Given the description of an element on the screen output the (x, y) to click on. 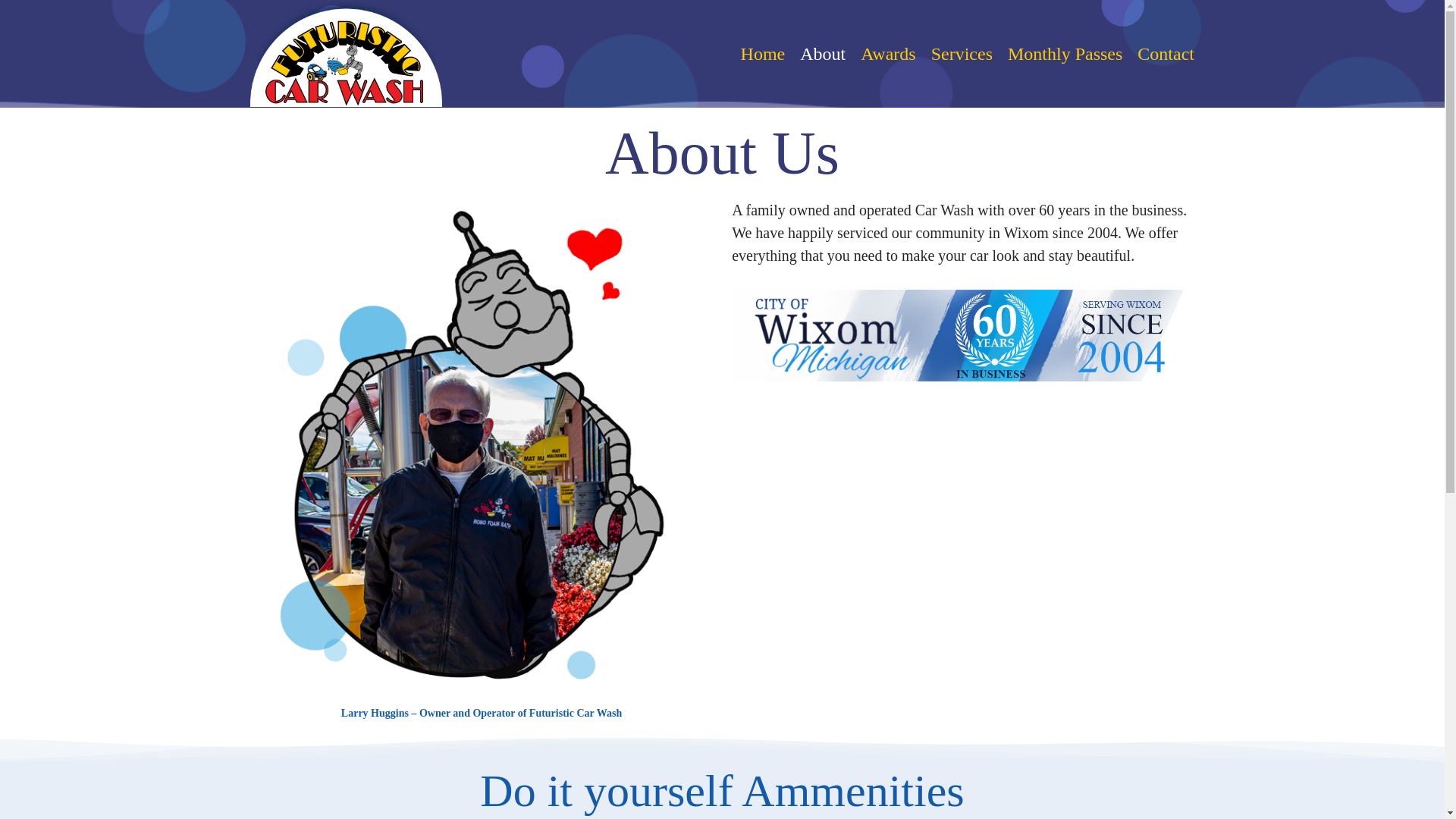
Contact (1161, 54)
Services (961, 54)
About (822, 54)
Home (763, 54)
Awards (888, 54)
Monthly Passes (1064, 54)
